Given the description of an element on the screen output the (x, y) to click on. 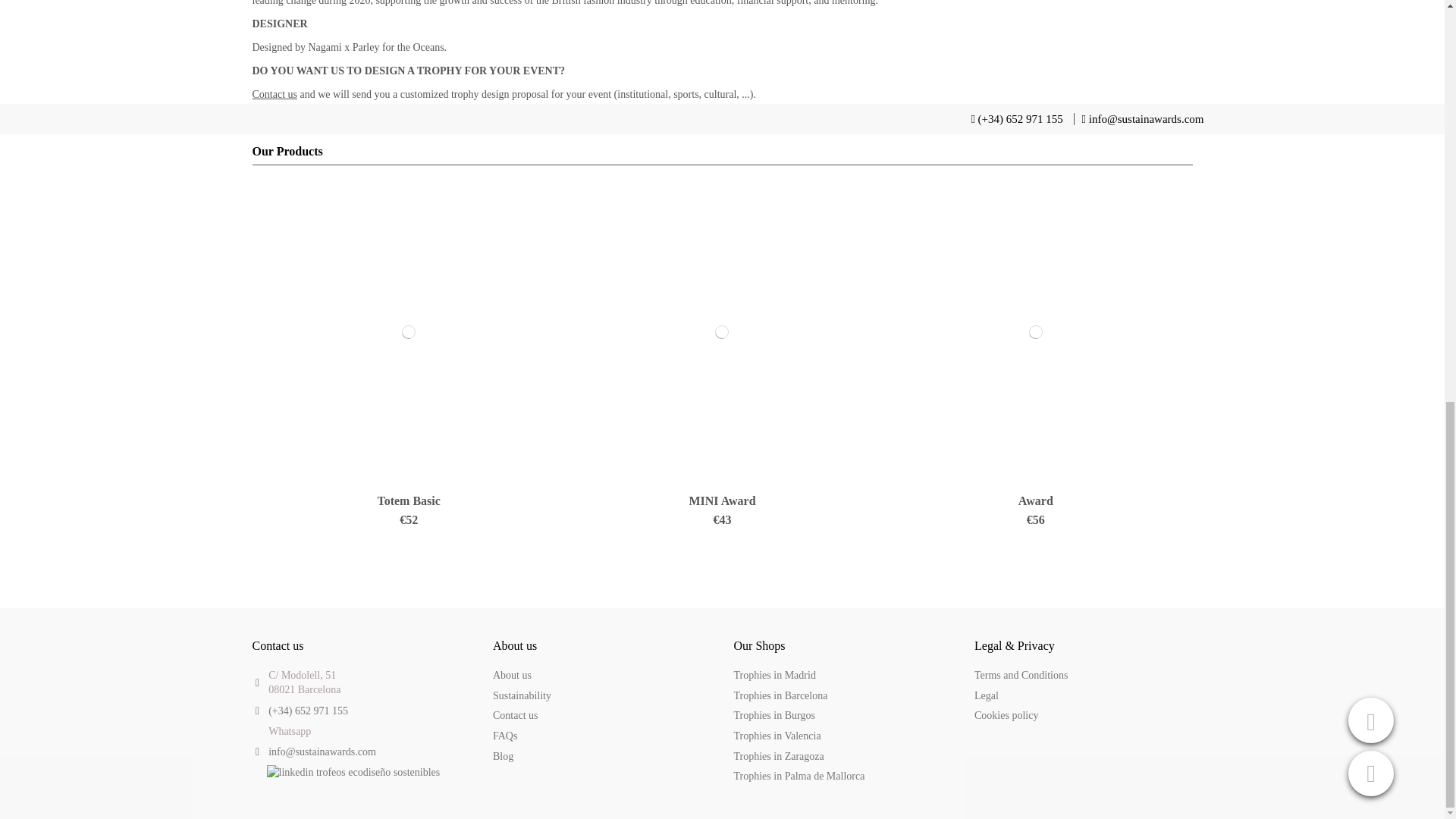
Legal notice (986, 695)
Our Terms and Conditions (1020, 675)
Our cookie policy explained in detail. (1006, 715)
